Given the description of an element on the screen output the (x, y) to click on. 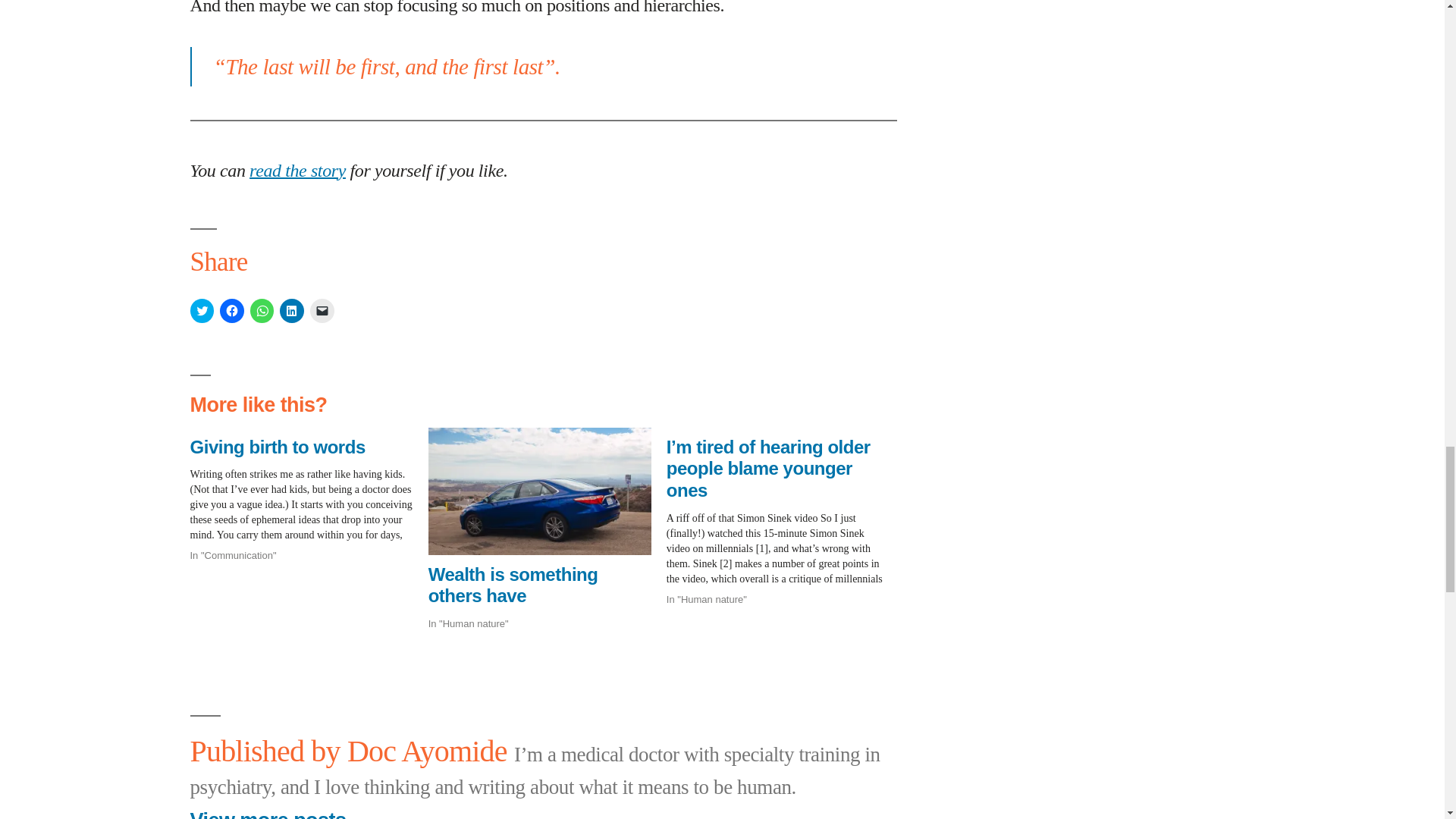
Wealth is something others have (513, 585)
View more posts (267, 813)
Giving birth to words (277, 446)
Click to share on WhatsApp (262, 310)
Click to email a link to a friend (322, 310)
Giving birth to words (277, 446)
Giving birth to words (308, 495)
Click to share on LinkedIn (291, 310)
Wealth is something others have (539, 491)
Wealth is something others have (513, 585)
